Given the description of an element on the screen output the (x, y) to click on. 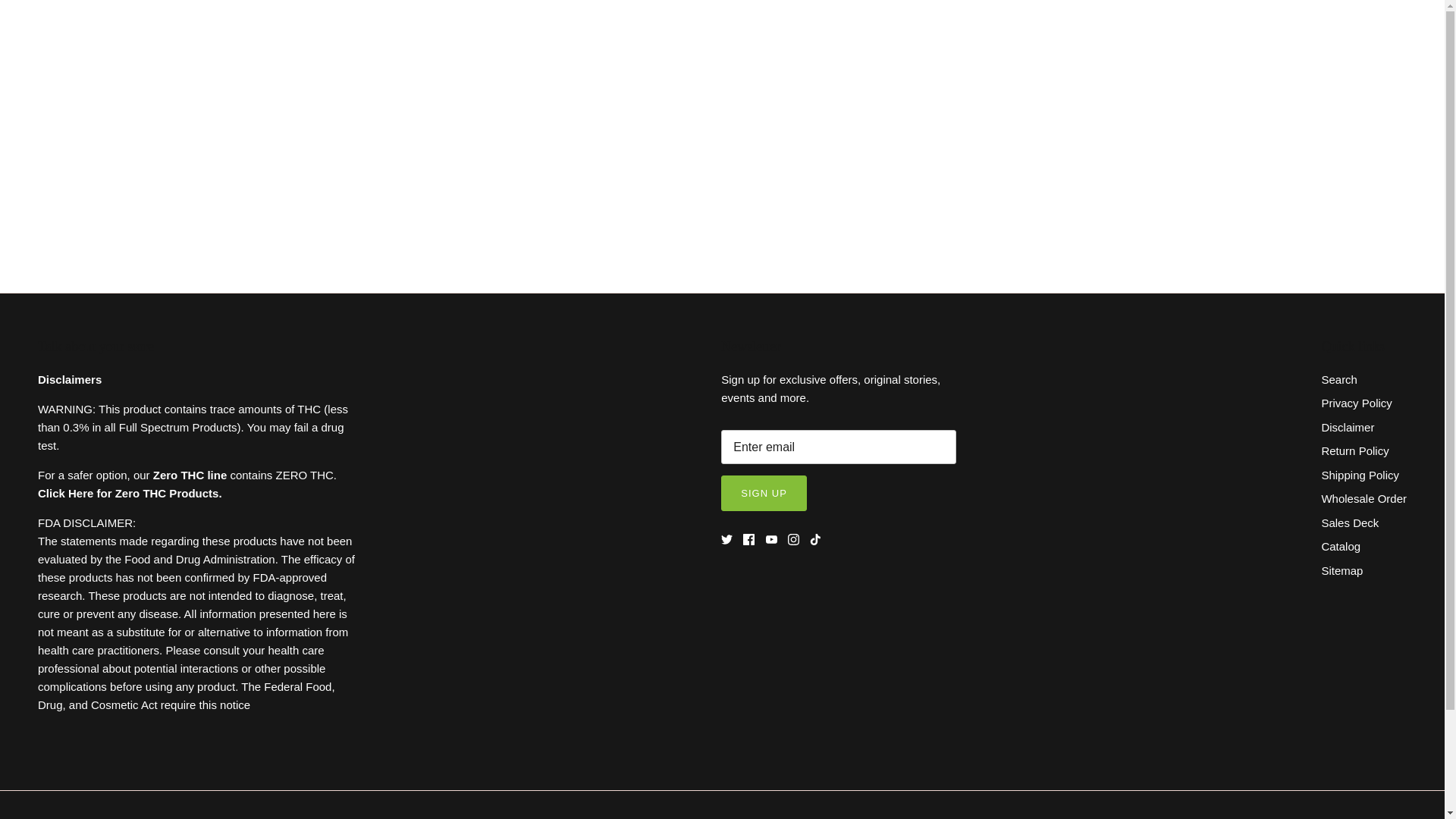
Twitter (726, 539)
Instagram (793, 539)
Zero THC (189, 474)
Youtube (771, 539)
Facebook (748, 539)
Zero THC (129, 492)
